Given the description of an element on the screen output the (x, y) to click on. 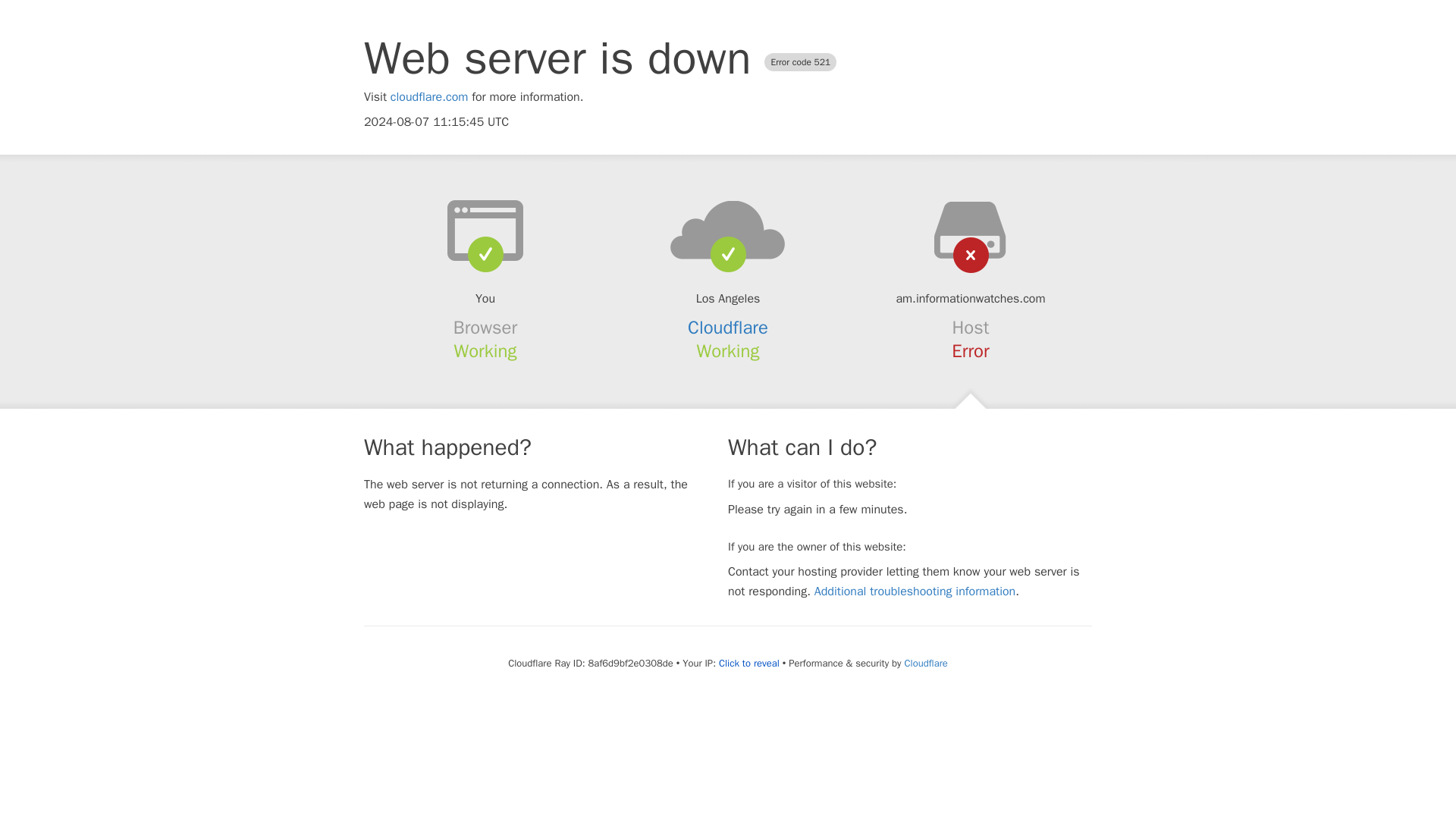
Click to reveal (748, 663)
cloudflare.com (429, 96)
Cloudflare (925, 662)
Cloudflare (727, 327)
Additional troubleshooting information (913, 590)
